Given the description of an element on the screen output the (x, y) to click on. 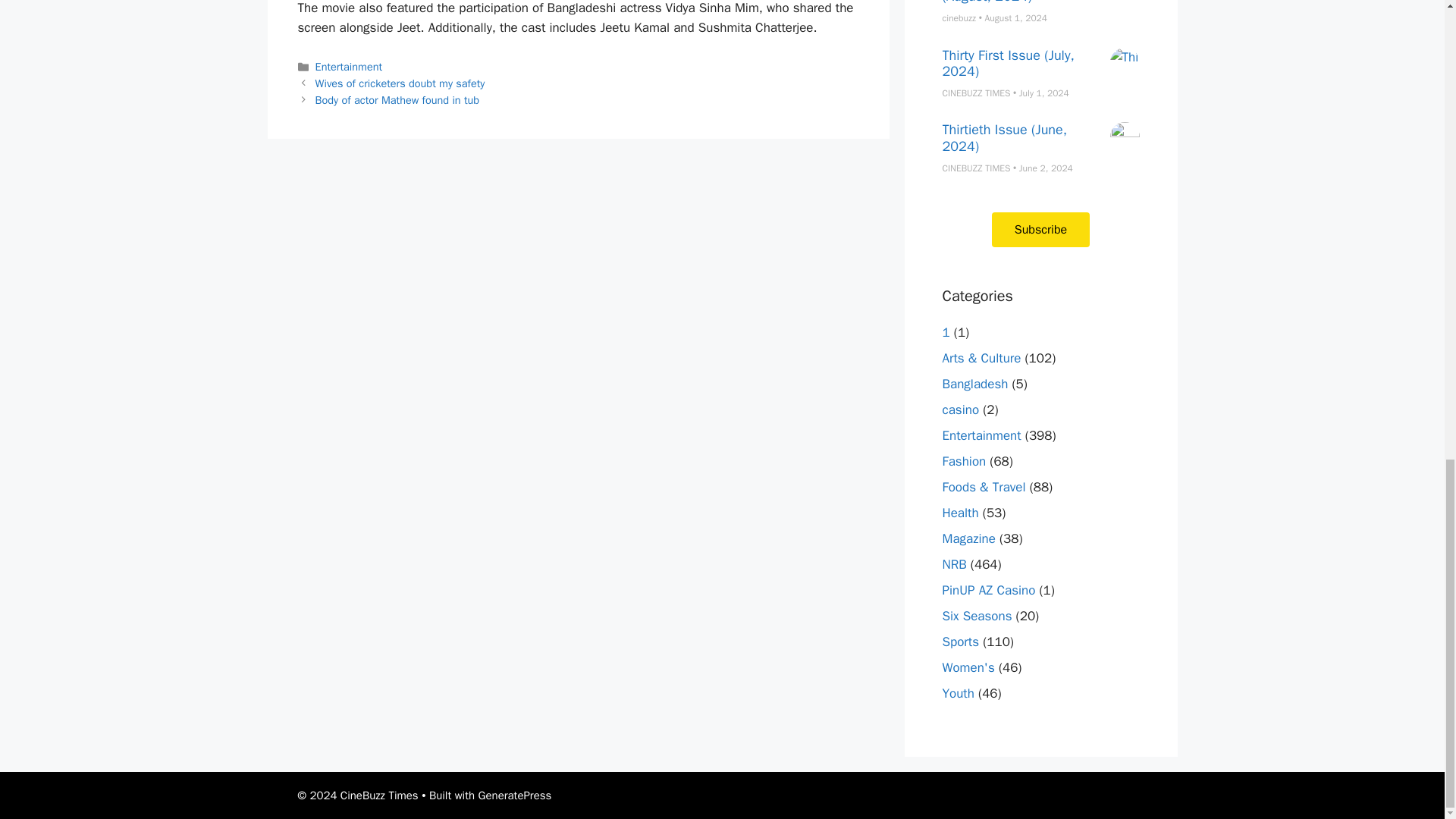
Entertainment (348, 66)
Wives of cricketers doubt my safety (399, 83)
Body of actor Mathew found in tub (397, 100)
Scroll back to top (1406, 486)
